Given the description of an element on the screen output the (x, y) to click on. 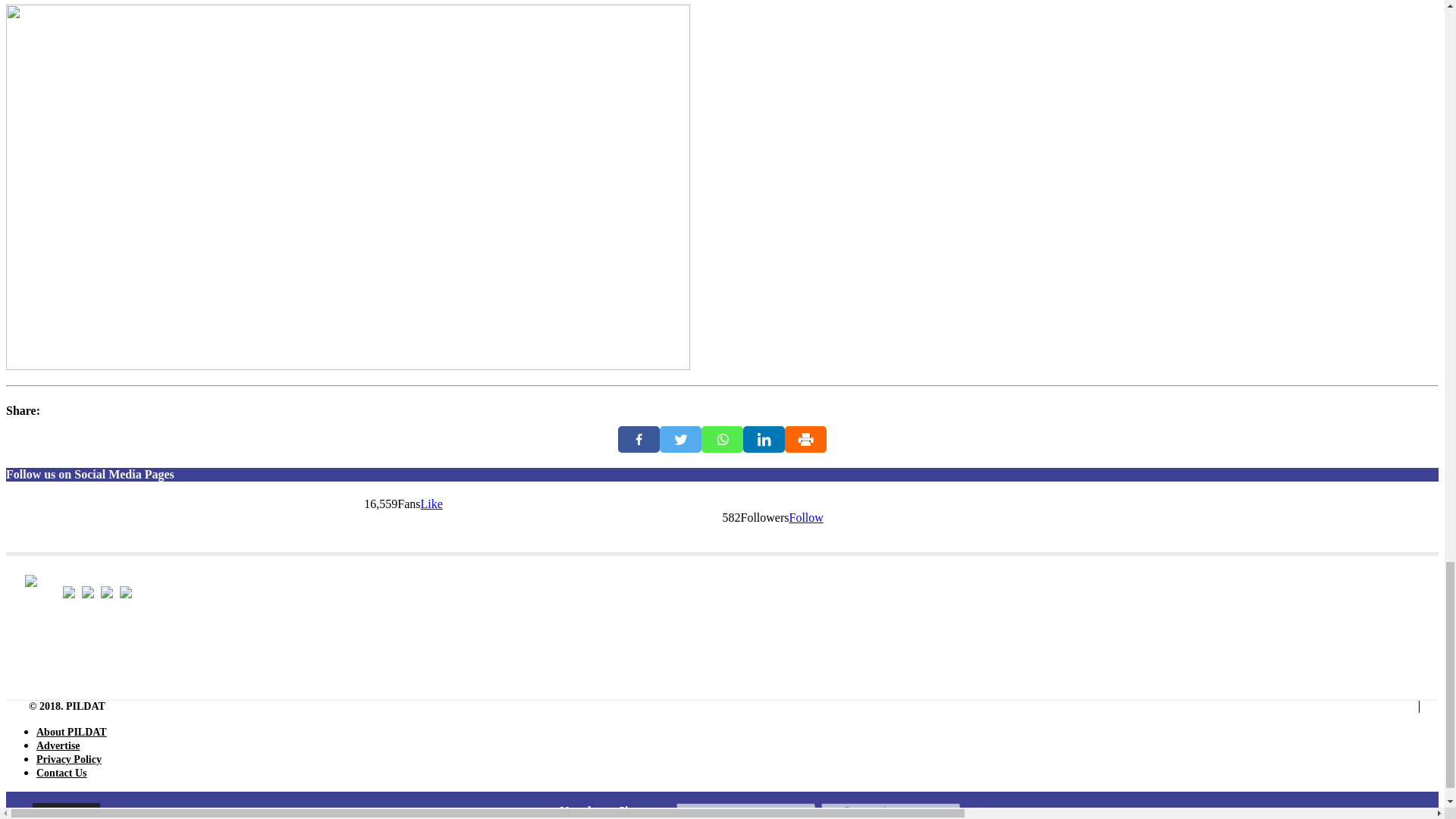
Facebook (638, 438)
Twitter (680, 438)
Whatsapp (721, 438)
